Given the description of an element on the screen output the (x, y) to click on. 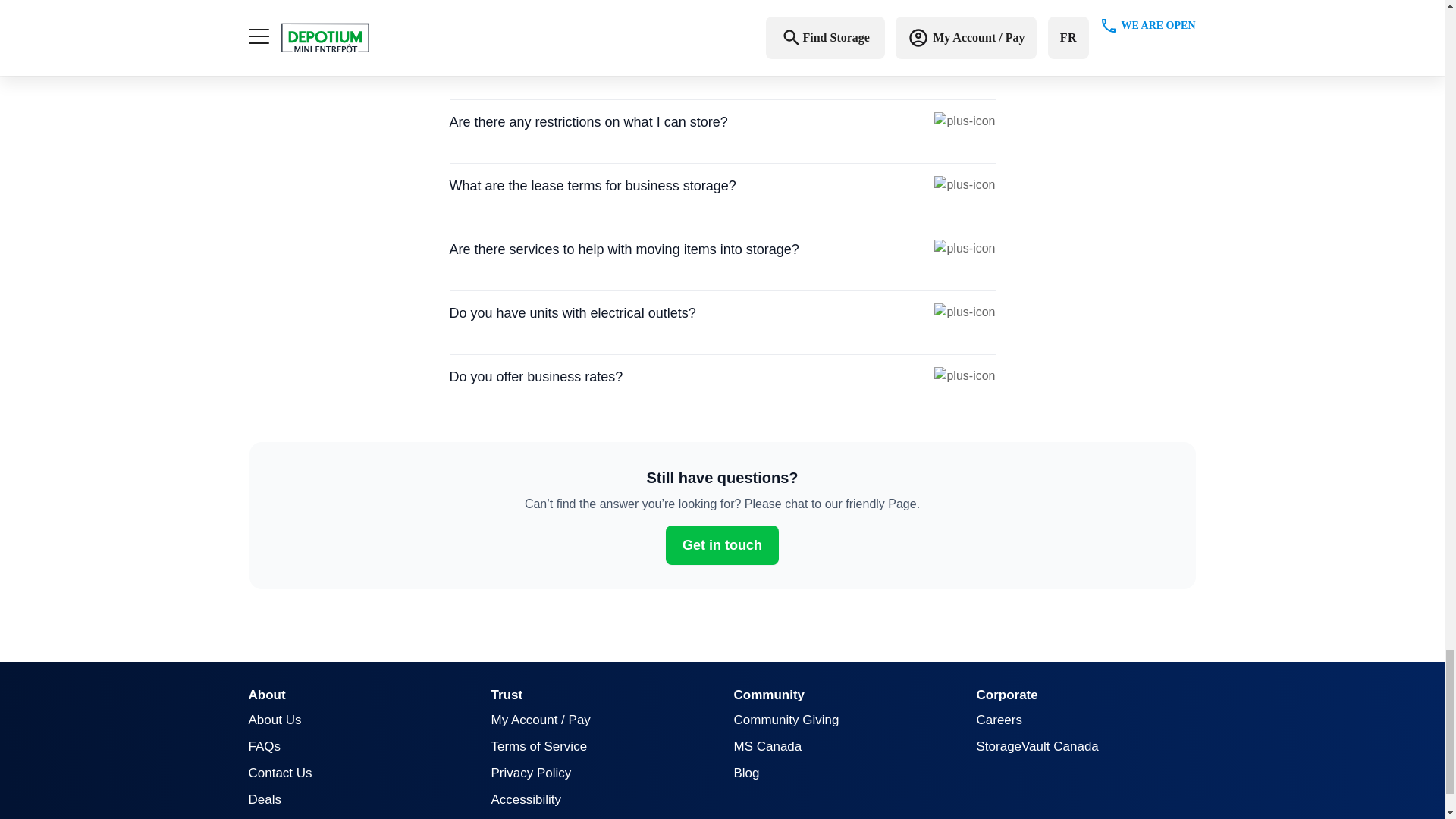
Privacy Policy (532, 772)
Community Giving (786, 719)
Terms of Service (540, 746)
FAQs (264, 746)
Get in touch (721, 545)
Contact Us (280, 772)
MS Canada (767, 746)
Get in touch (721, 545)
Deals (264, 799)
Accessibility (527, 799)
